Given the description of an element on the screen output the (x, y) to click on. 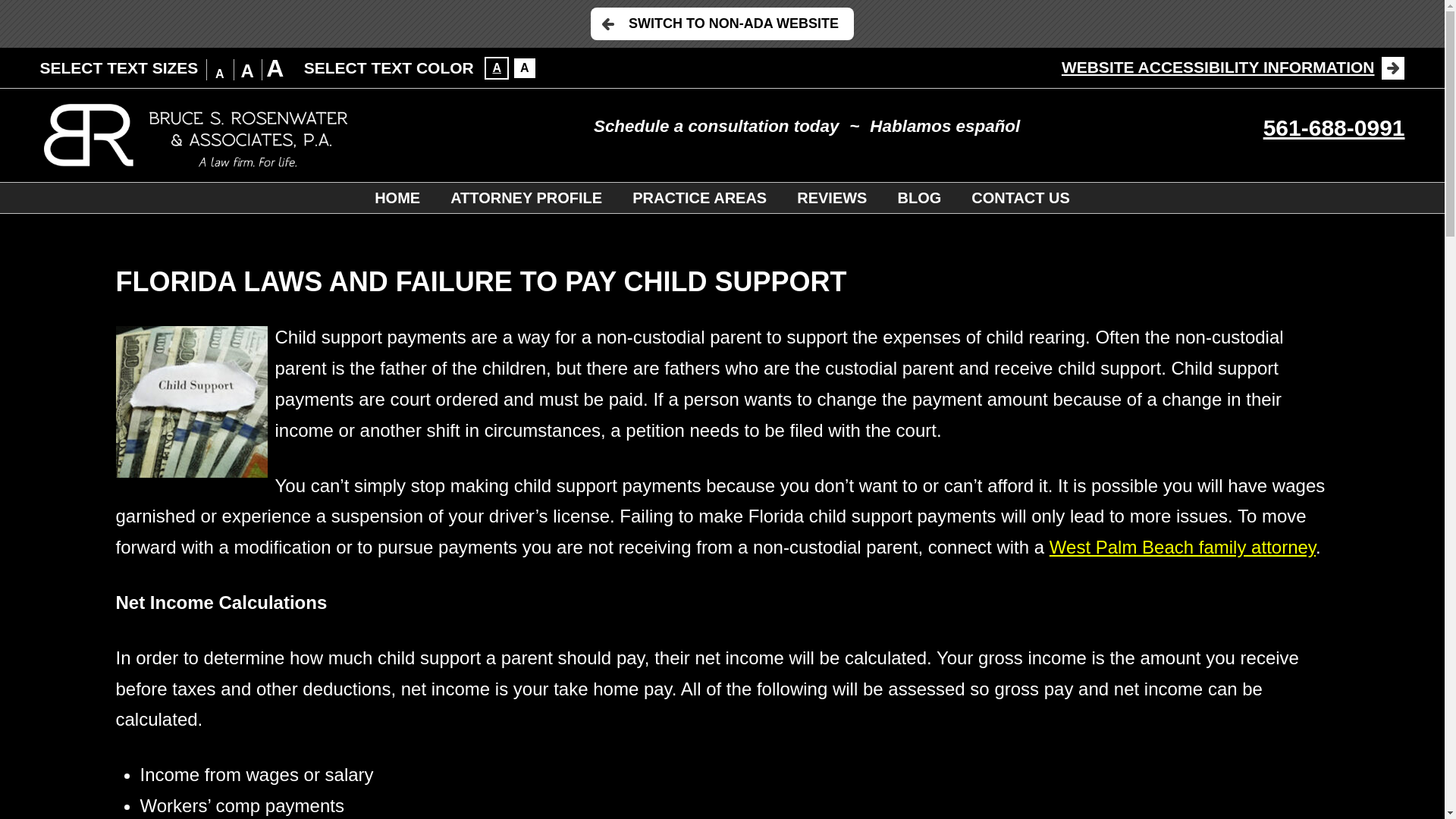
CSupport9 (190, 401)
PRACTICE AREAS (699, 197)
SWITCH TO NON-ADA WEBSITE (722, 23)
ATTORNEY PROFILE (526, 197)
HOME (397, 197)
WEBSITE ACCESSIBILITY INFORMATION (1233, 67)
Invert Colors (524, 67)
A (496, 67)
Invert Colors (496, 67)
Click to view external accessibility article (1233, 67)
A (524, 67)
561-688-0991 (1334, 127)
